Given the description of an element on the screen output the (x, y) to click on. 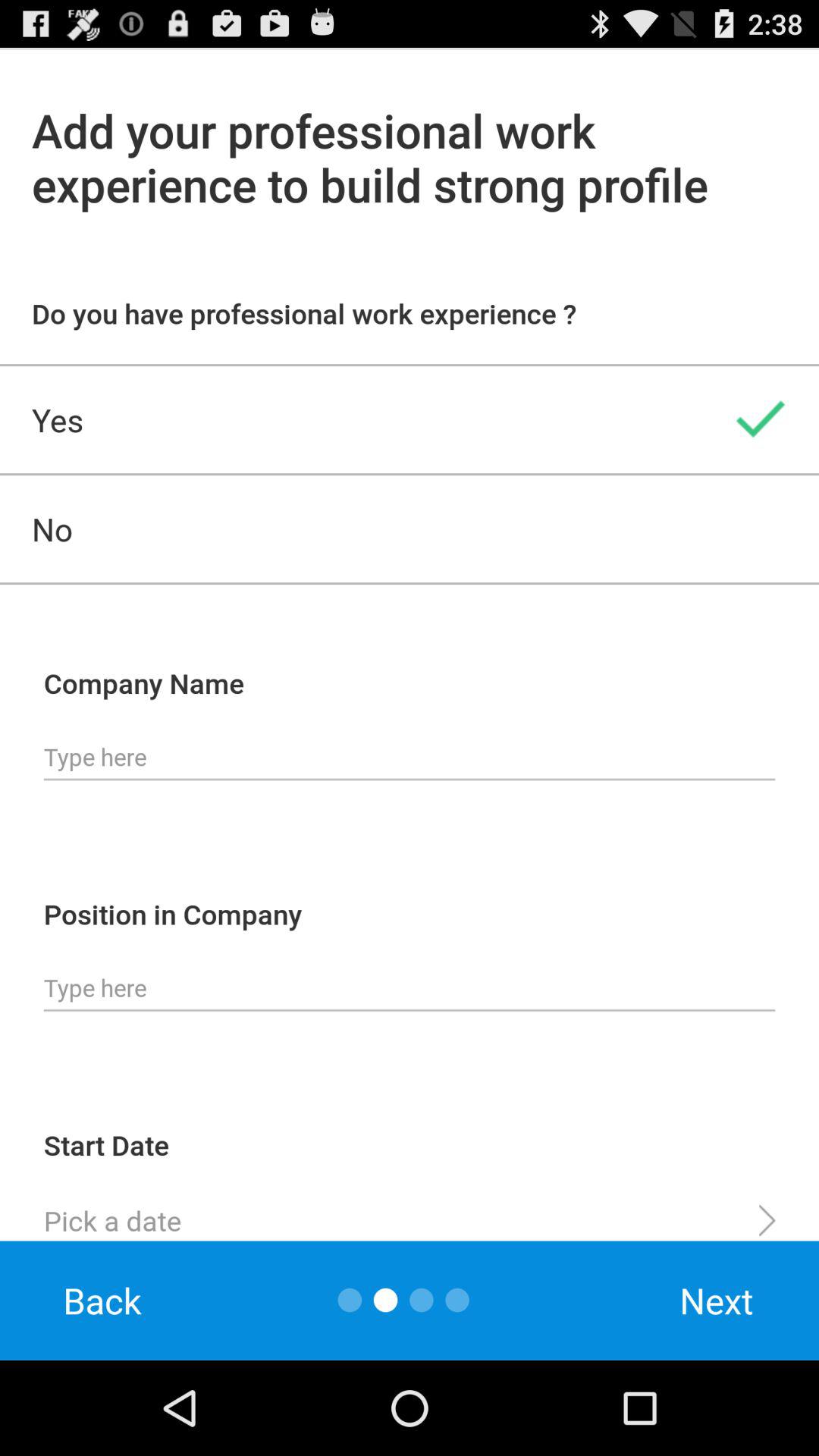
type in occupation (409, 988)
